Given the description of an element on the screen output the (x, y) to click on. 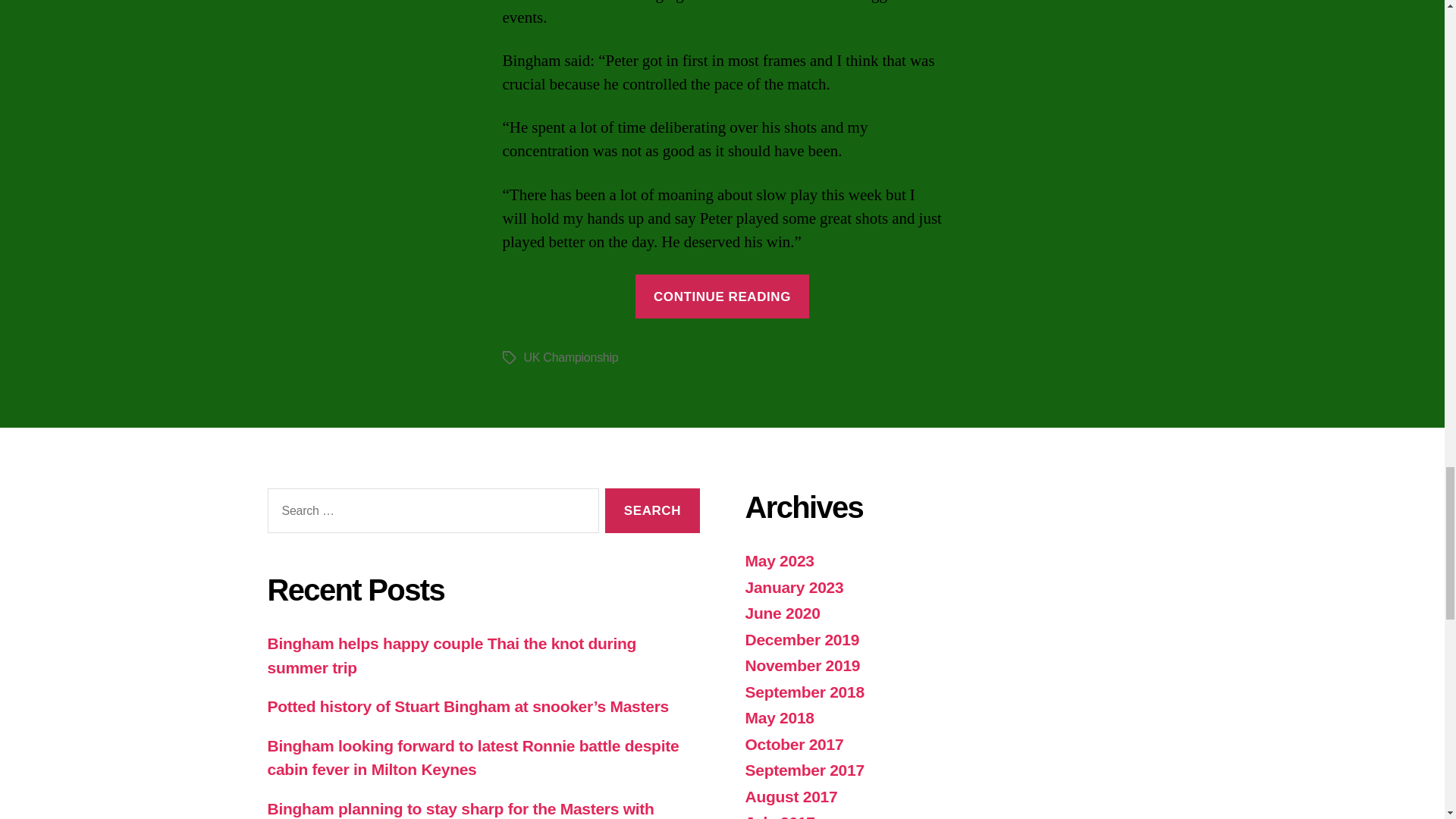
November 2019 (802, 665)
Bingham helps happy couple Thai the knot during summer trip (451, 655)
December 2019 (801, 639)
January 2023 (793, 587)
Search (651, 510)
June 2020 (781, 612)
May 2023 (778, 560)
Search (651, 510)
